Given the description of an element on the screen output the (x, y) to click on. 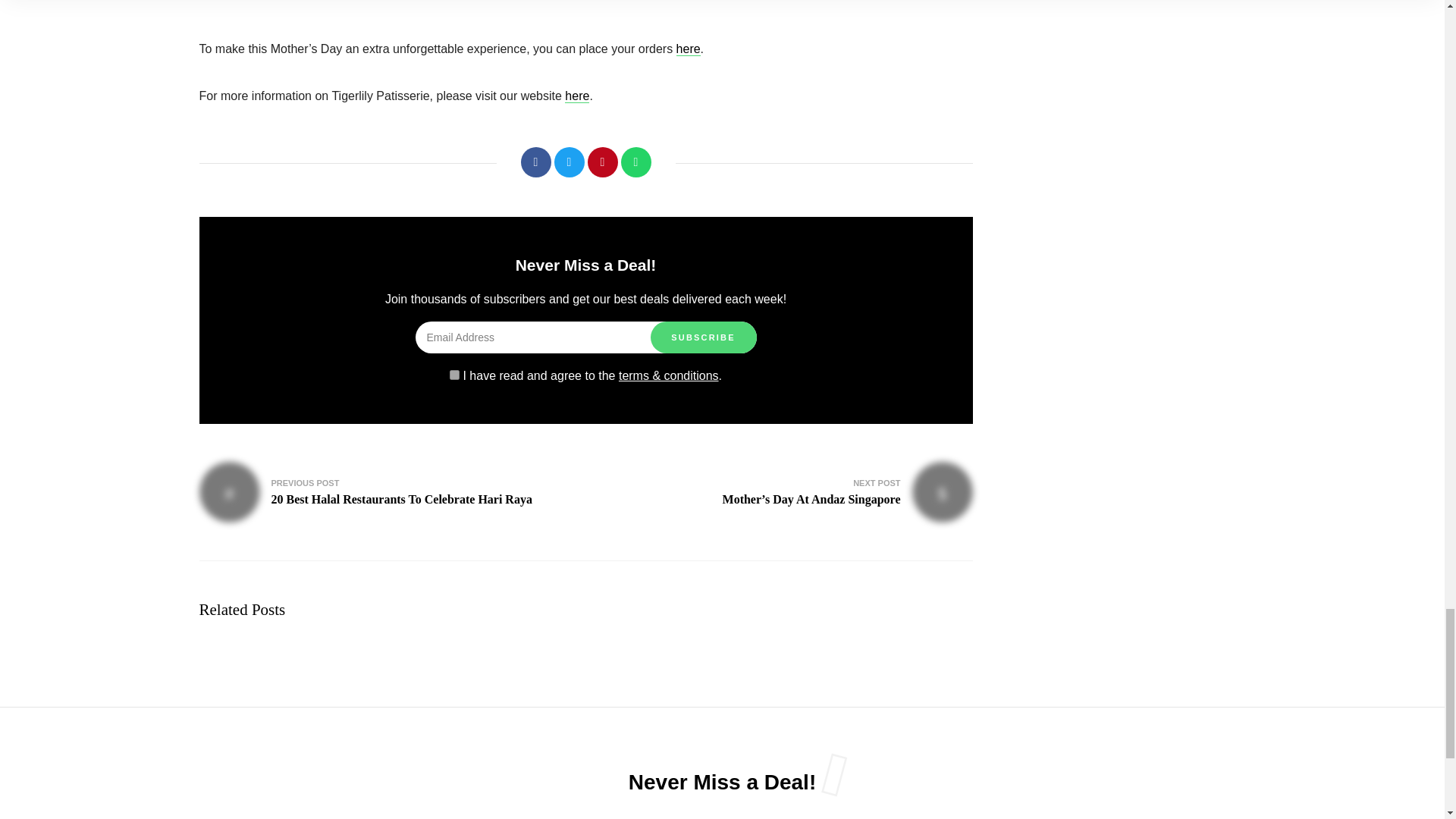
WhatsApp (635, 162)
Twitter (568, 162)
Subscribe (703, 336)
here (688, 48)
Facebook (534, 162)
Subscribe (703, 336)
here (576, 95)
Pinterest (601, 162)
1 (454, 375)
